Given the description of an element on the screen output the (x, y) to click on. 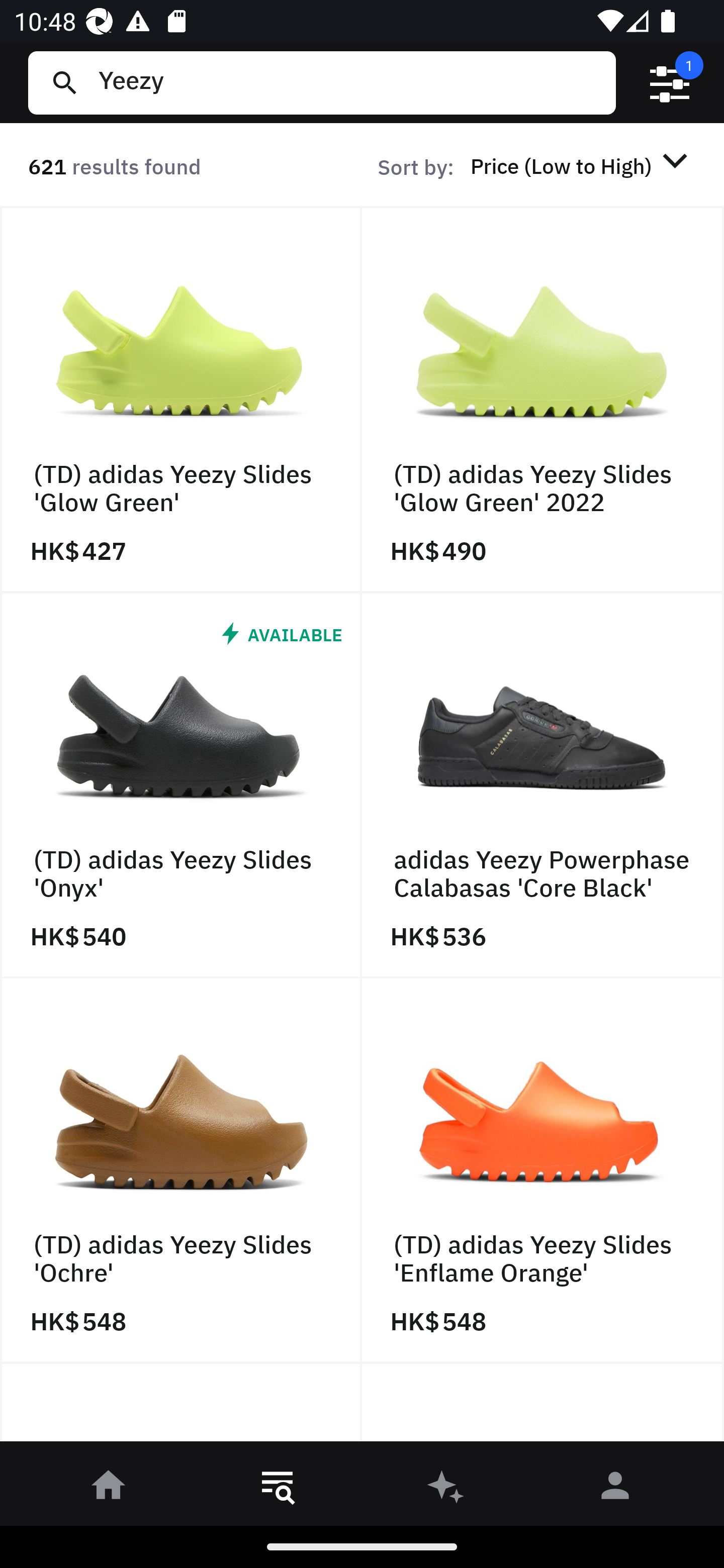
Yeezy (349, 82)
 (669, 82)
Price (Low to High)  (582, 165)
(TD) adidas Yeezy Slides 'Glow Green' HK$ 427 (181, 399)
(TD) adidas Yeezy Slides 'Glow Green' 2022 HK$ 490 (543, 399)
(TD) adidas Yeezy Slides 'Ochre' HK$ 548 (181, 1171)
(TD) adidas Yeezy Slides 'Enflame Orange' HK$ 548 (543, 1171)
󰋜 (108, 1488)
󱎸 (277, 1488)
󰫢 (446, 1488)
󰀄 (615, 1488)
